Given the description of an element on the screen output the (x, y) to click on. 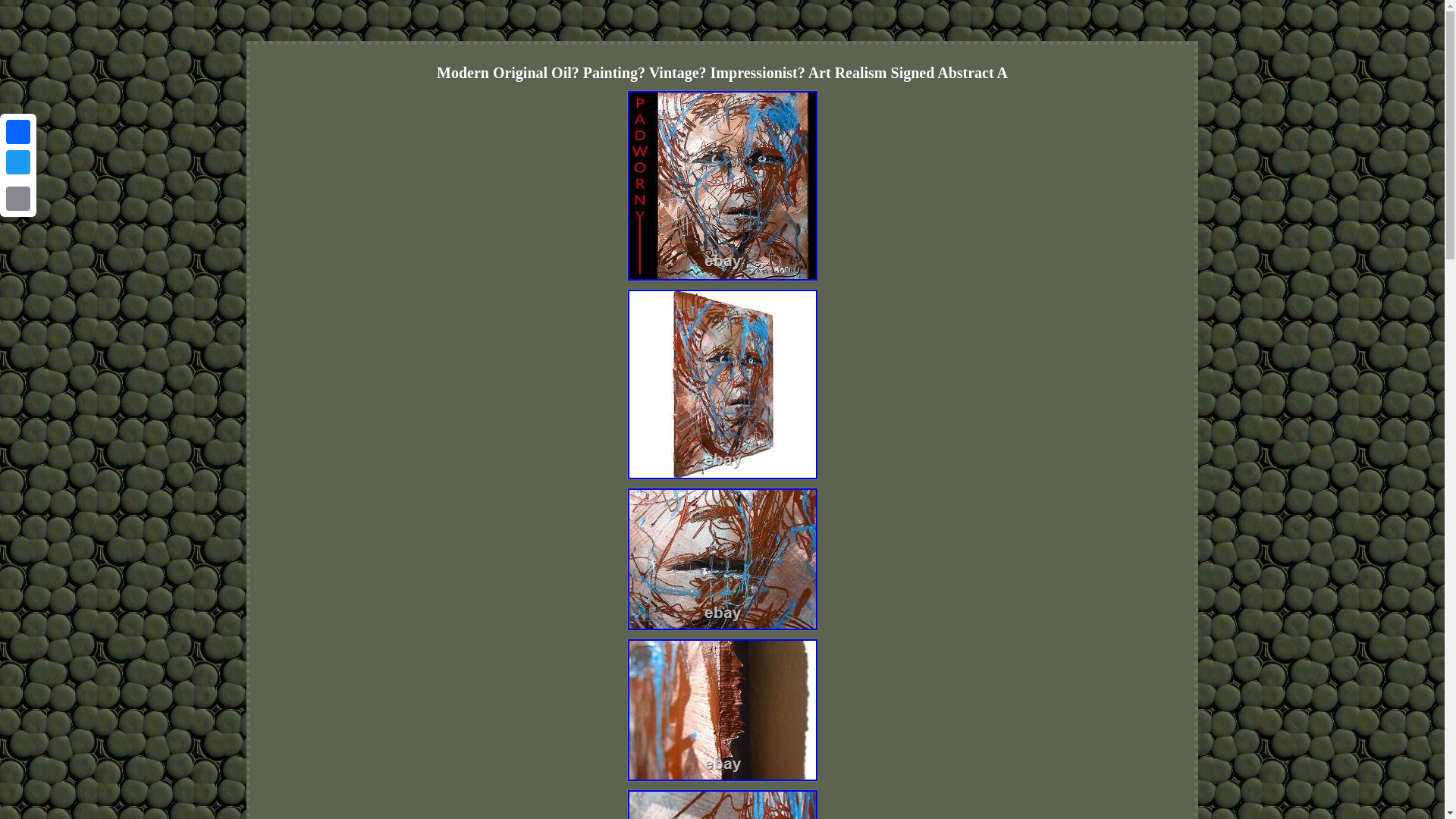
Facebook (17, 132)
Twitter (17, 162)
Email (17, 198)
